Given the description of an element on the screen output the (x, y) to click on. 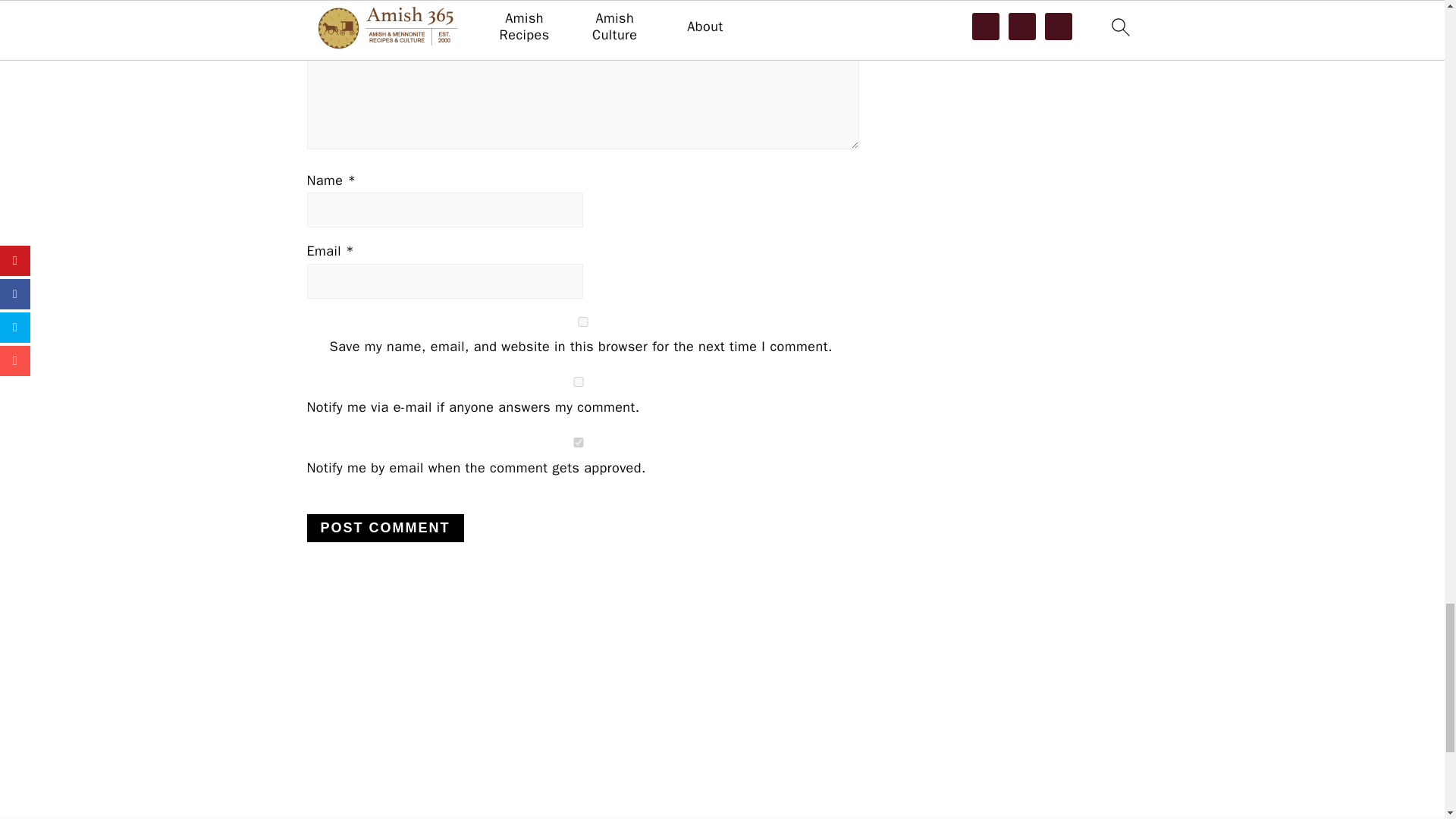
Post Comment (384, 528)
1 (576, 442)
yes (582, 321)
on (576, 381)
